Given the description of an element on the screen output the (x, y) to click on. 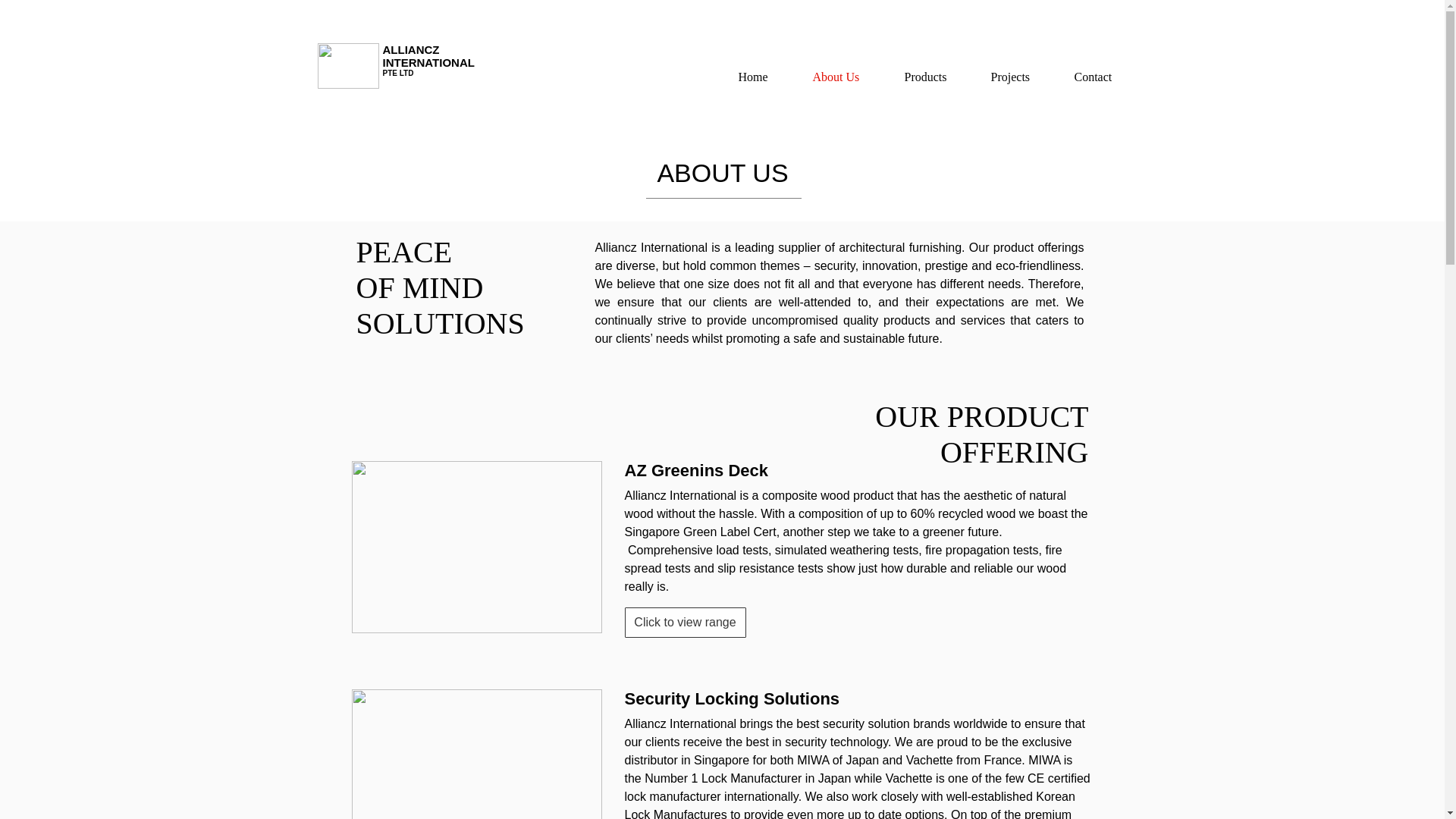
Products (936, 77)
Home (763, 77)
Projects (1020, 77)
Security Locking ironmongery (477, 754)
Click to view range (684, 622)
About Us (846, 77)
Contact (1103, 77)
